Given the description of an element on the screen output the (x, y) to click on. 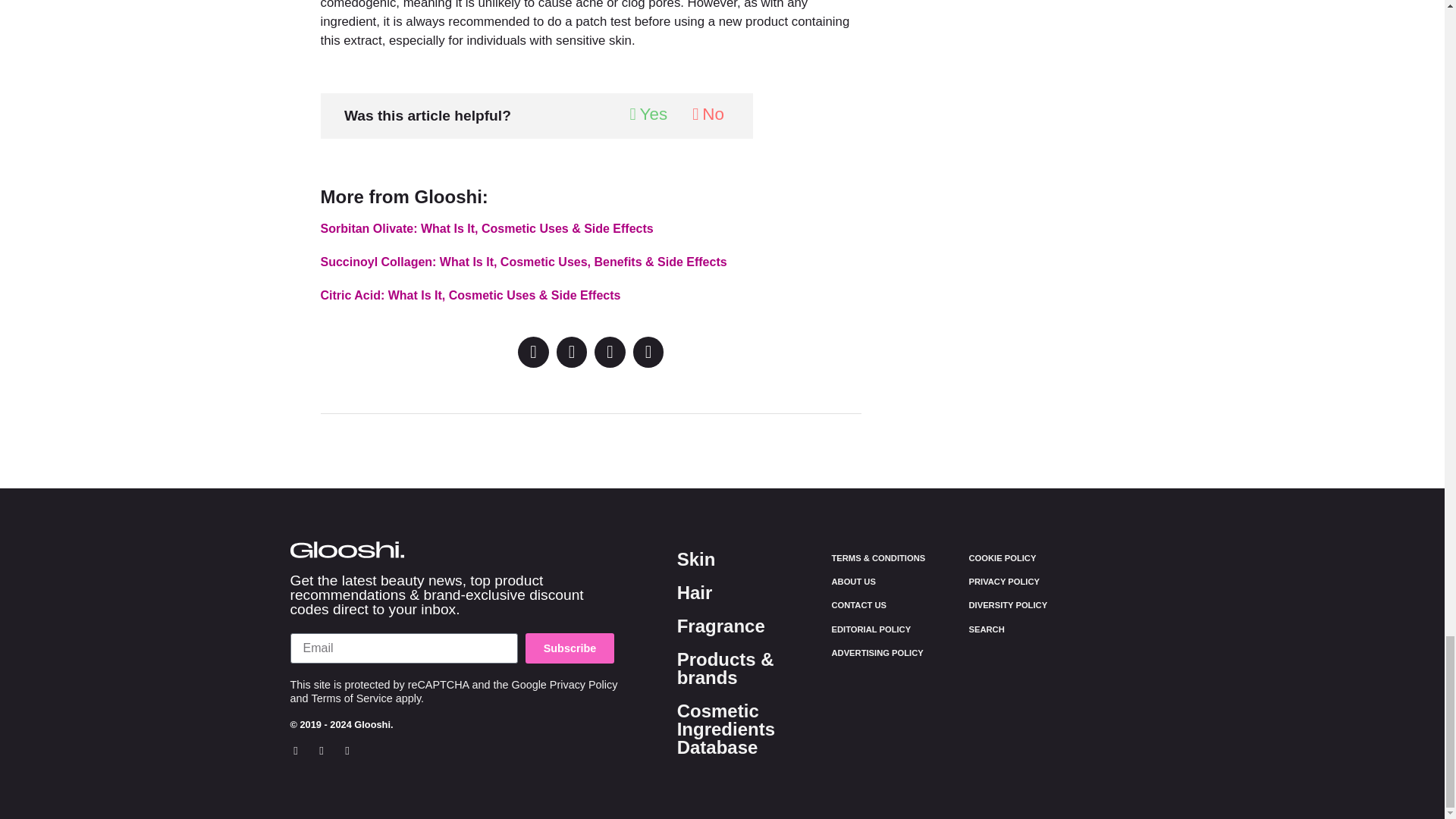
Subscribe (569, 648)
Yes (647, 114)
Cosmetic Ingredients Database (725, 729)
Terms of Service (352, 698)
No (708, 114)
Hair (695, 592)
Fragrance (721, 625)
Privacy Policy (583, 684)
Skin (696, 558)
